Given the description of an element on the screen output the (x, y) to click on. 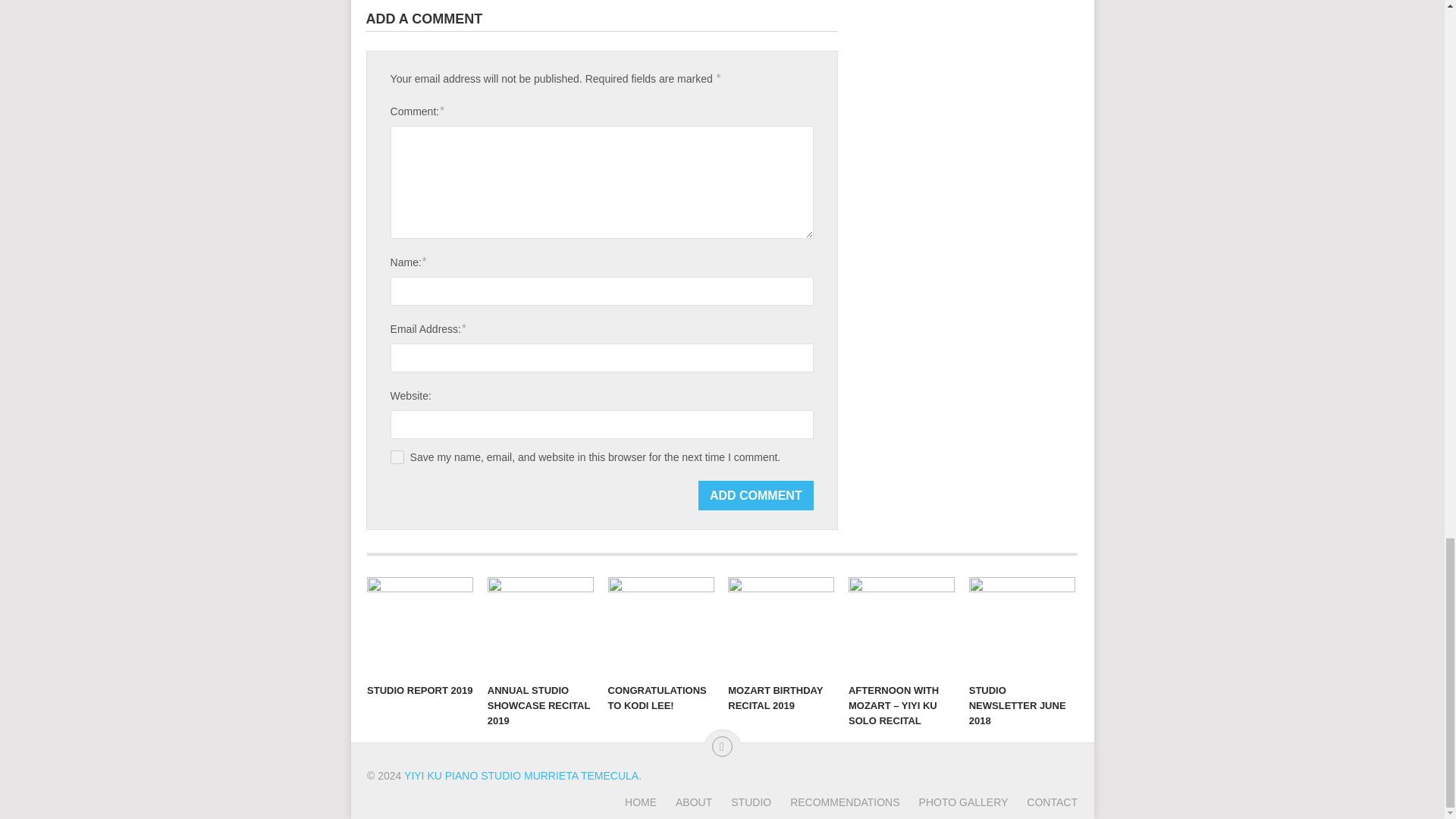
Add Comment (755, 495)
yes (397, 457)
Add Comment (755, 495)
